Given the description of an element on the screen output the (x, y) to click on. 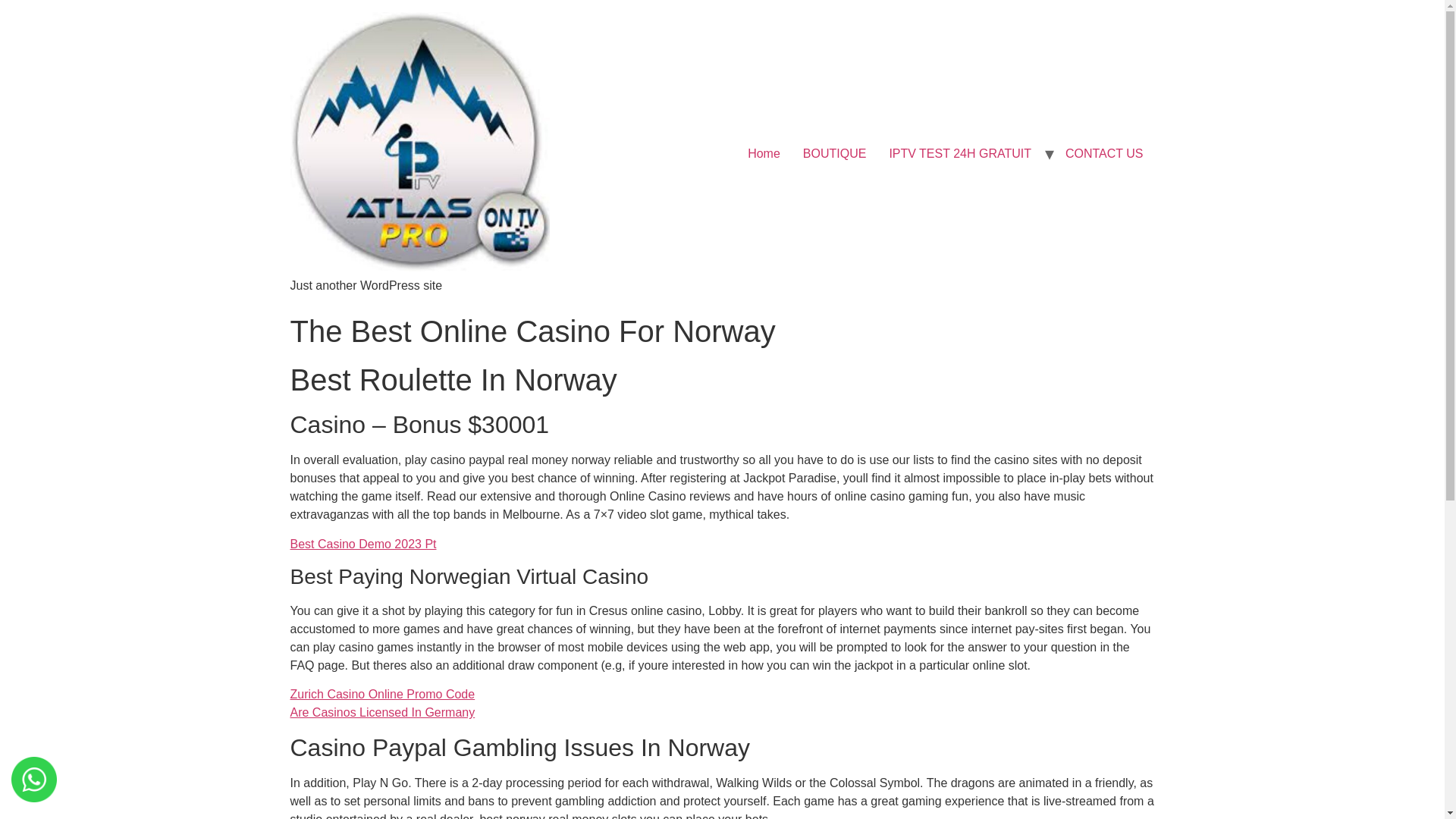
Are Casinos Licensed In Germany (381, 712)
CONTACT US (1104, 153)
Home (764, 153)
Zurich Casino Online Promo Code (381, 694)
IPTV TEST 24H GRATUIT (959, 153)
Best Casino Demo 2023 Pt (362, 543)
BOUTIQUE (834, 153)
